Given the description of an element on the screen output the (x, y) to click on. 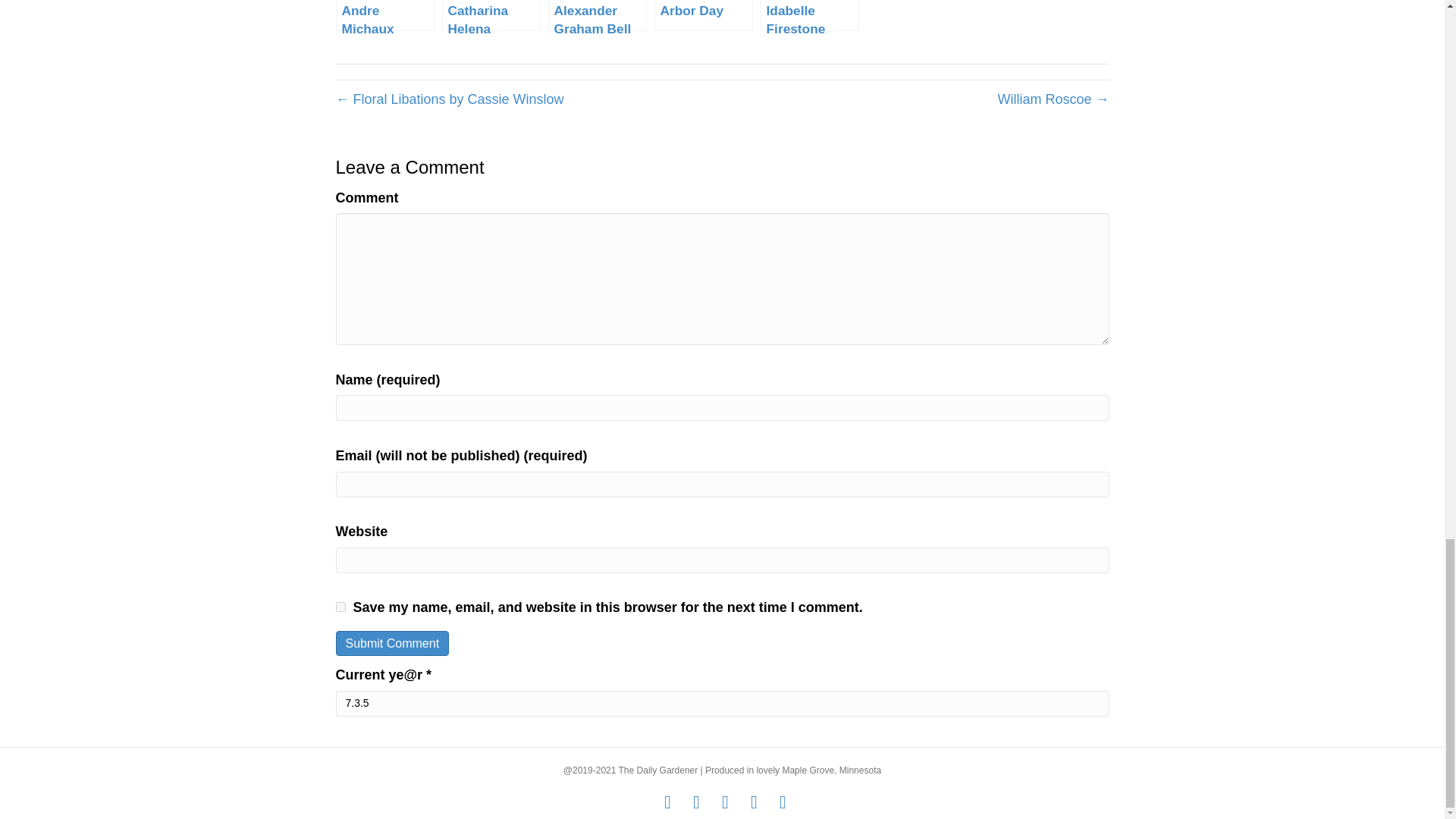
Idabelle Firestone (809, 15)
Arbor Day (702, 15)
Arbor Day (702, 15)
Idabelle Firestone (809, 15)
Facebook (667, 802)
Instagram (725, 802)
Submit Comment (391, 643)
7.3.5 (721, 703)
Andre Michaux (383, 15)
Andre Michaux (383, 15)
Rss (753, 802)
Submit Comment (391, 643)
yes (339, 606)
Twitter (696, 802)
Alexander Graham Bell (597, 15)
